Given the description of an element on the screen output the (x, y) to click on. 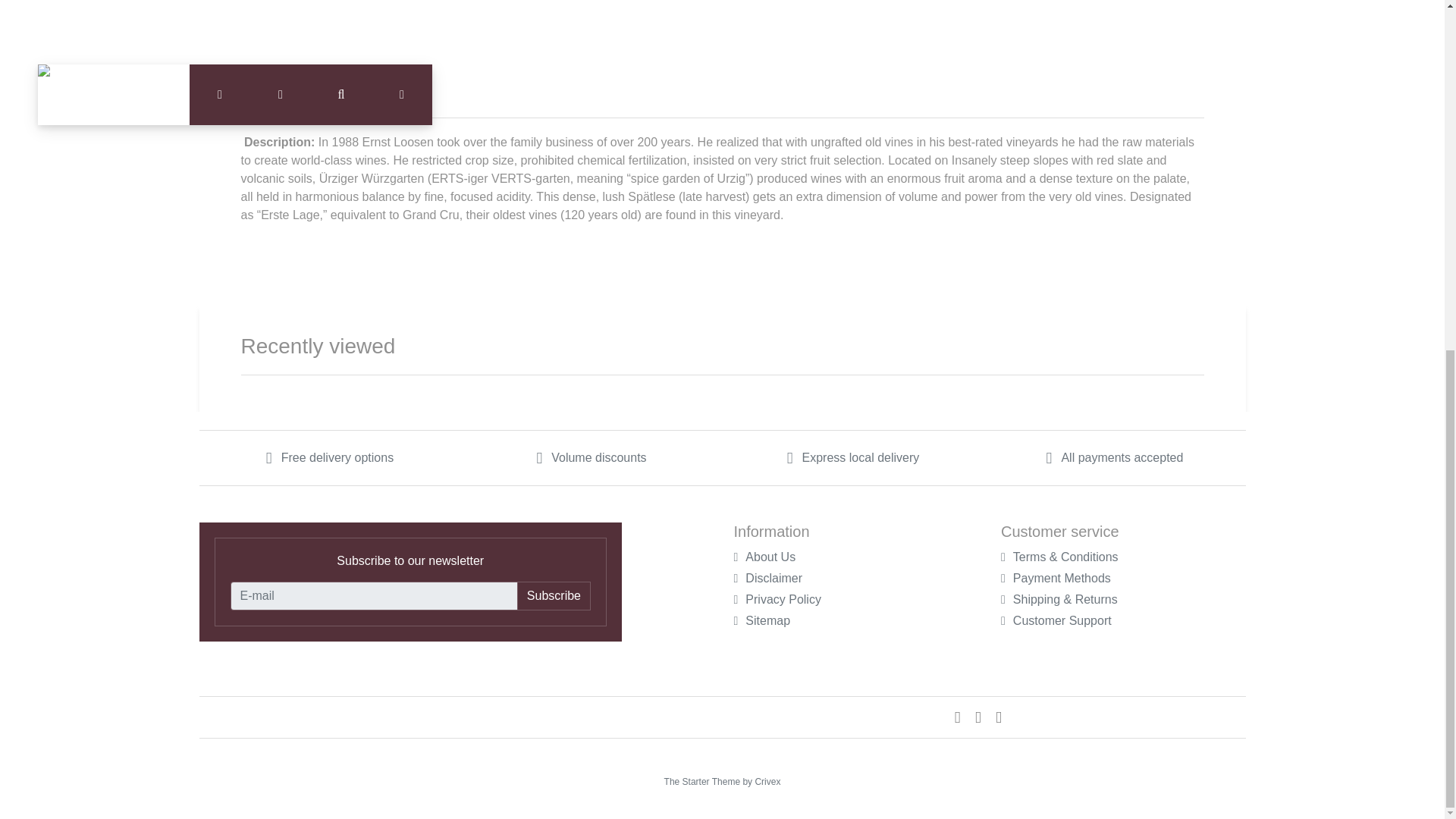
Subscribe (553, 595)
About Us (763, 556)
Subscribe (553, 595)
Disclaimer (767, 577)
About Us (763, 556)
